Given the description of an element on the screen output the (x, y) to click on. 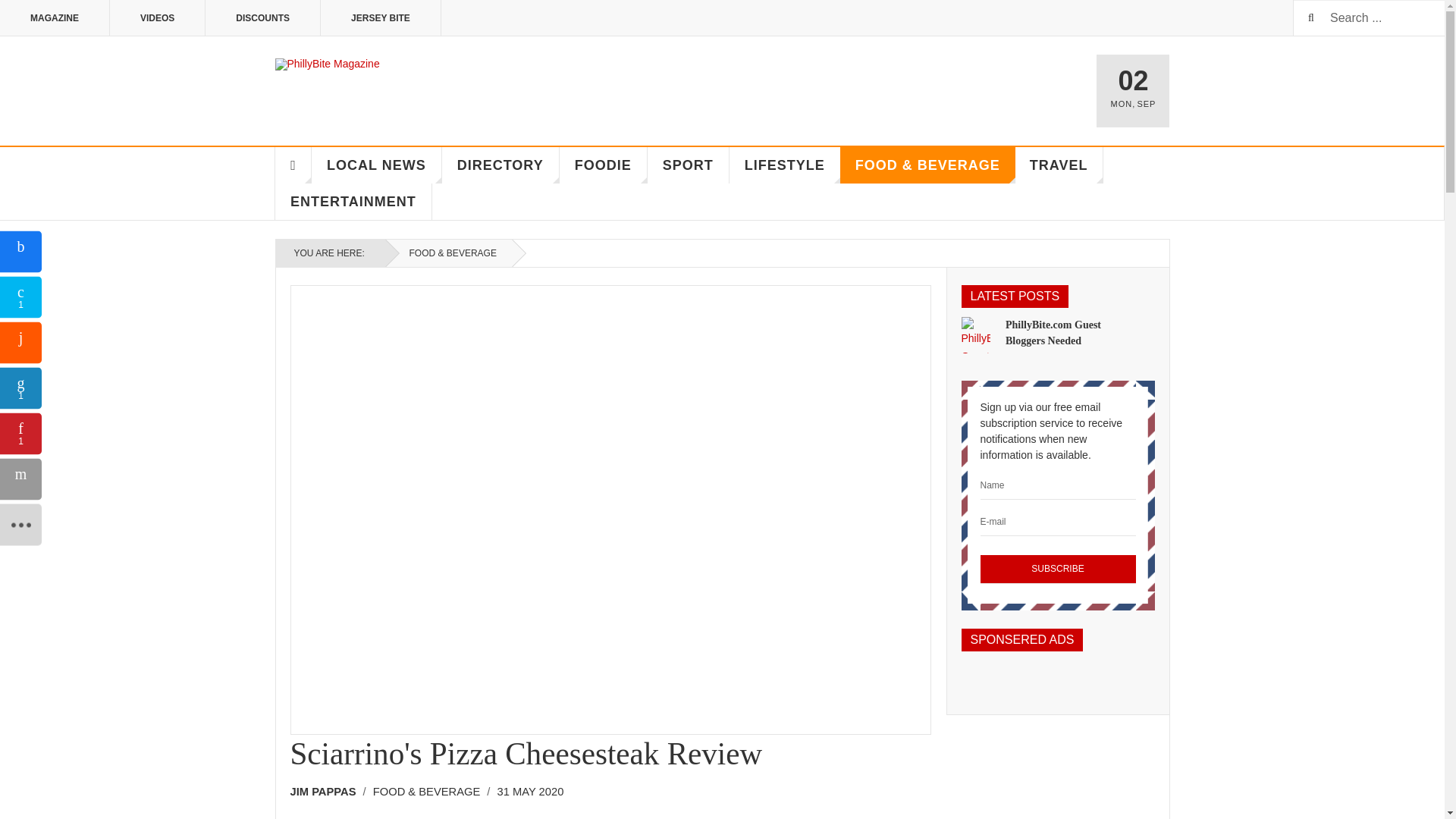
Published:  (530, 791)
LOCAL NEWS (376, 165)
HOME (293, 165)
LIFESTYLE (785, 165)
DIRECTORY (500, 165)
Subscribe (1057, 569)
TRAVEL (1058, 165)
ENTERTAINMENT (353, 201)
JERSEY BITE (380, 18)
FOODIE (603, 165)
